Given the description of an element on the screen output the (x, y) to click on. 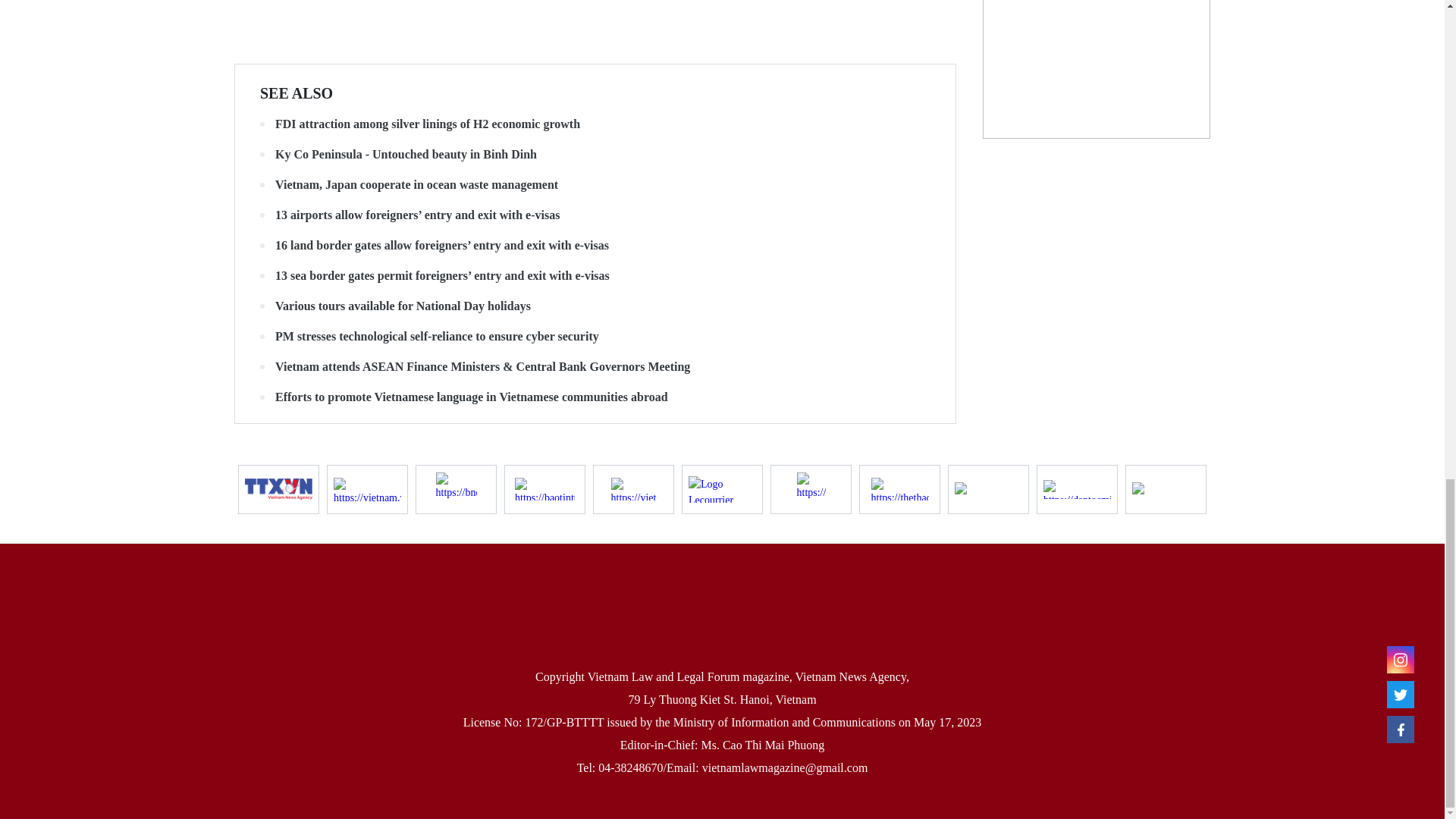
SEE ALSO (296, 92)
Various tours available for National Day holidays (595, 305)
Ky Co Peninsula - Untouched beauty in Binh Dinh (595, 154)
Vietnam, Japan cooperate in ocean waste management (595, 184)
FDI attraction among silver linings of H2 economic growth (595, 124)
